Given the description of an element on the screen output the (x, y) to click on. 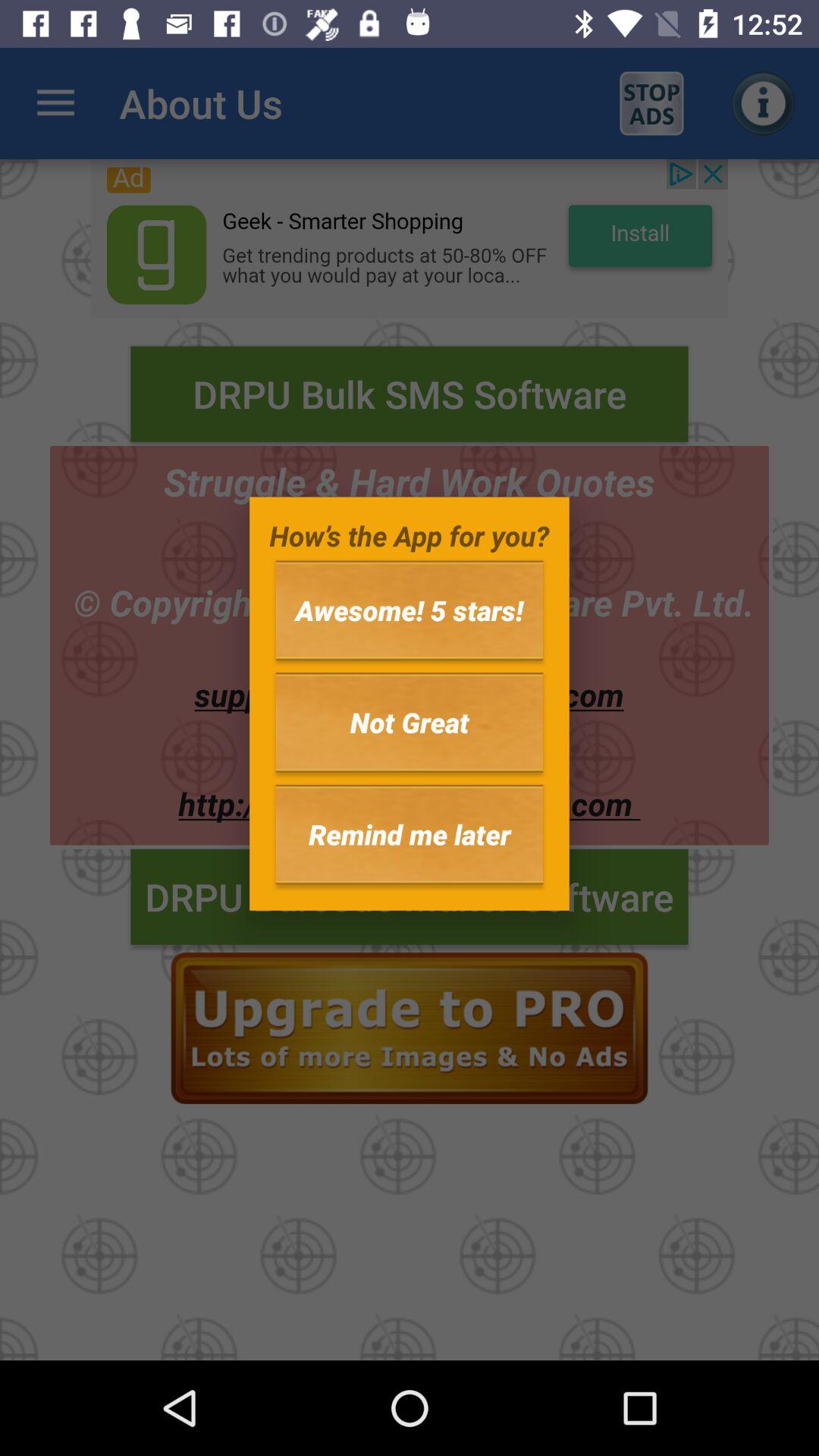
click not great icon (409, 722)
